Given the description of an element on the screen output the (x, y) to click on. 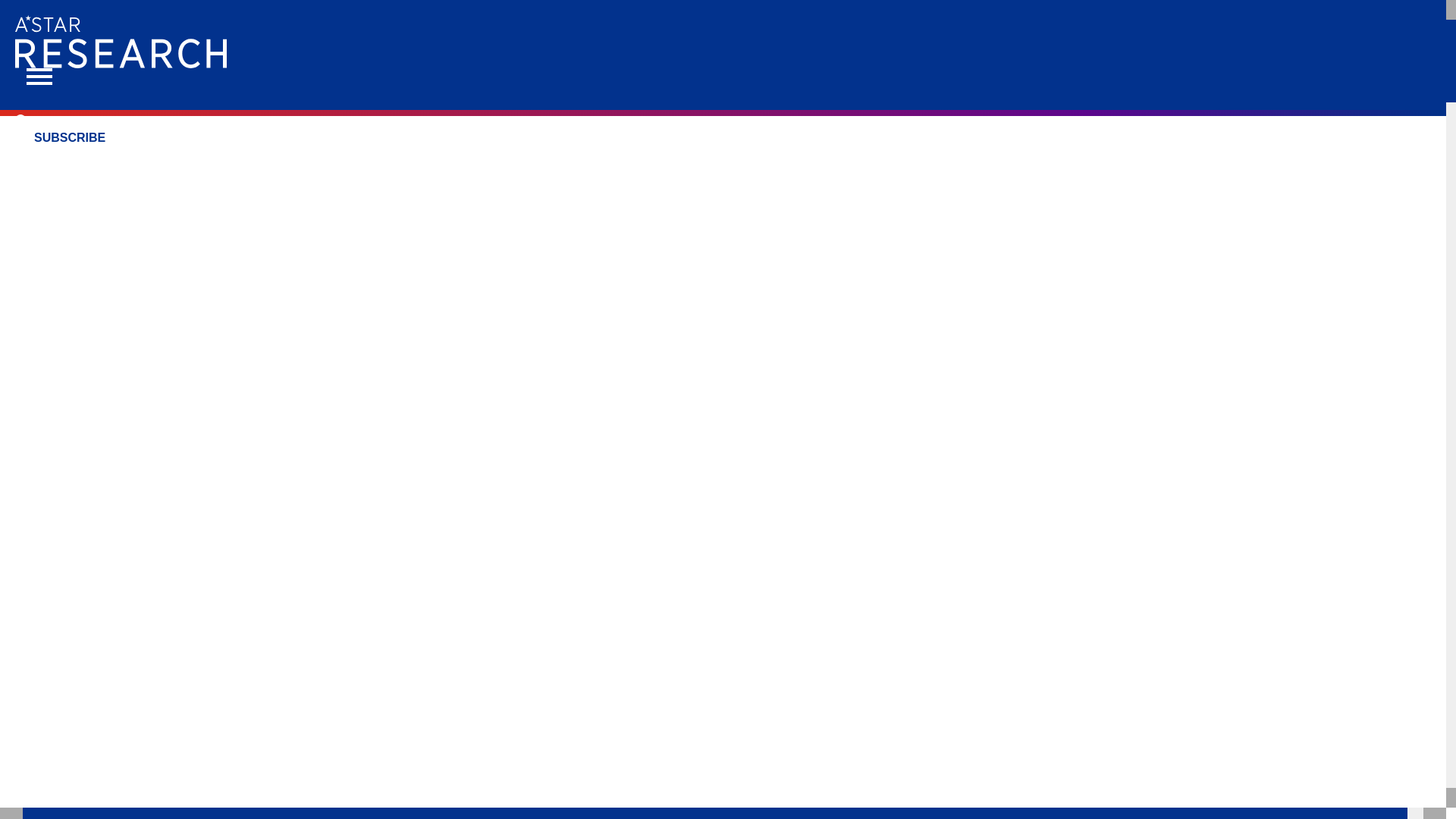
Contact (477, 164)
Archives (279, 164)
Home (33, 164)
SUBSCRIBE (68, 137)
Features (106, 164)
Highlights (193, 164)
Print (348, 164)
About (409, 164)
